Given the description of an element on the screen output the (x, y) to click on. 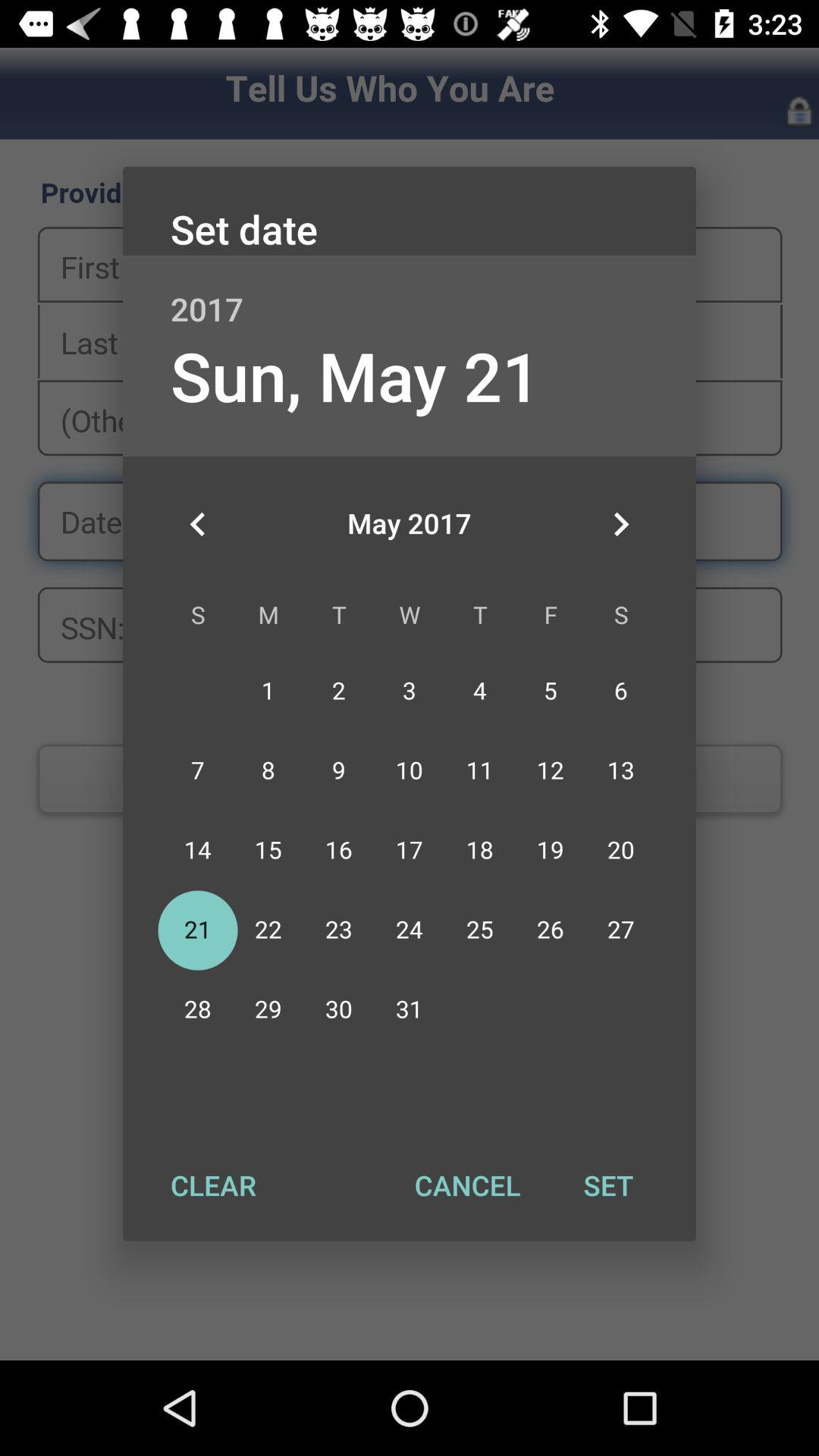
choose the cancel item (467, 1185)
